Given the description of an element on the screen output the (x, y) to click on. 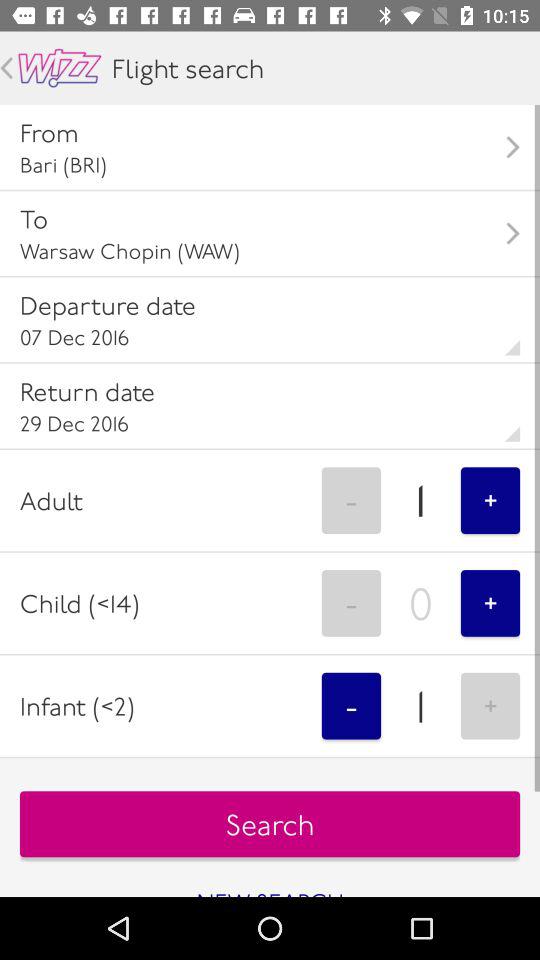
back (6, 67)
